Given the description of an element on the screen output the (x, y) to click on. 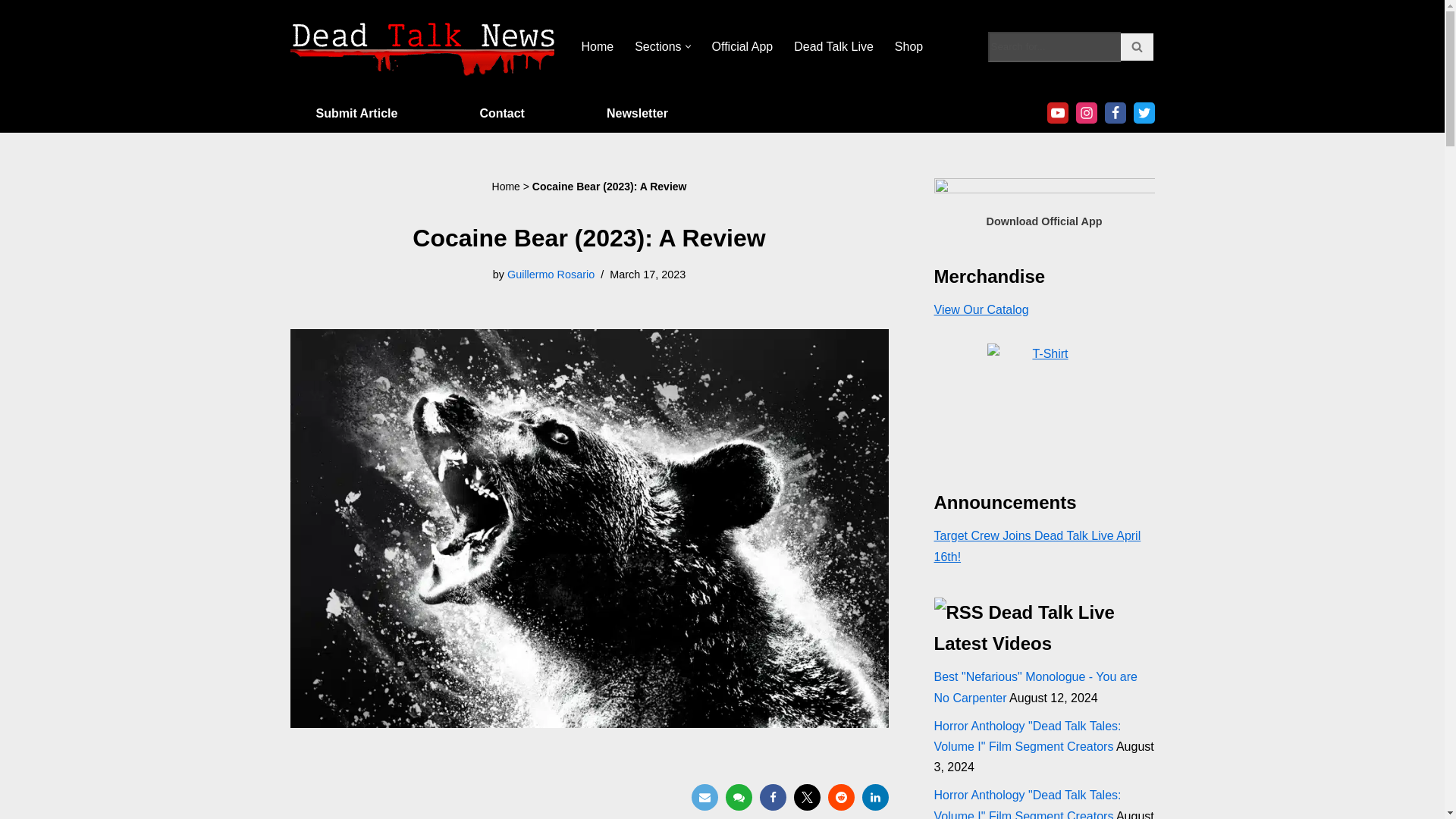
Youtube (1056, 112)
Email (704, 796)
Newsletter (637, 113)
Instagram (1085, 112)
Facebook (773, 796)
Facebook (1114, 112)
Shop (909, 46)
Skip to content (11, 31)
Official App (742, 46)
Message (738, 796)
